Given the description of an element on the screen output the (x, y) to click on. 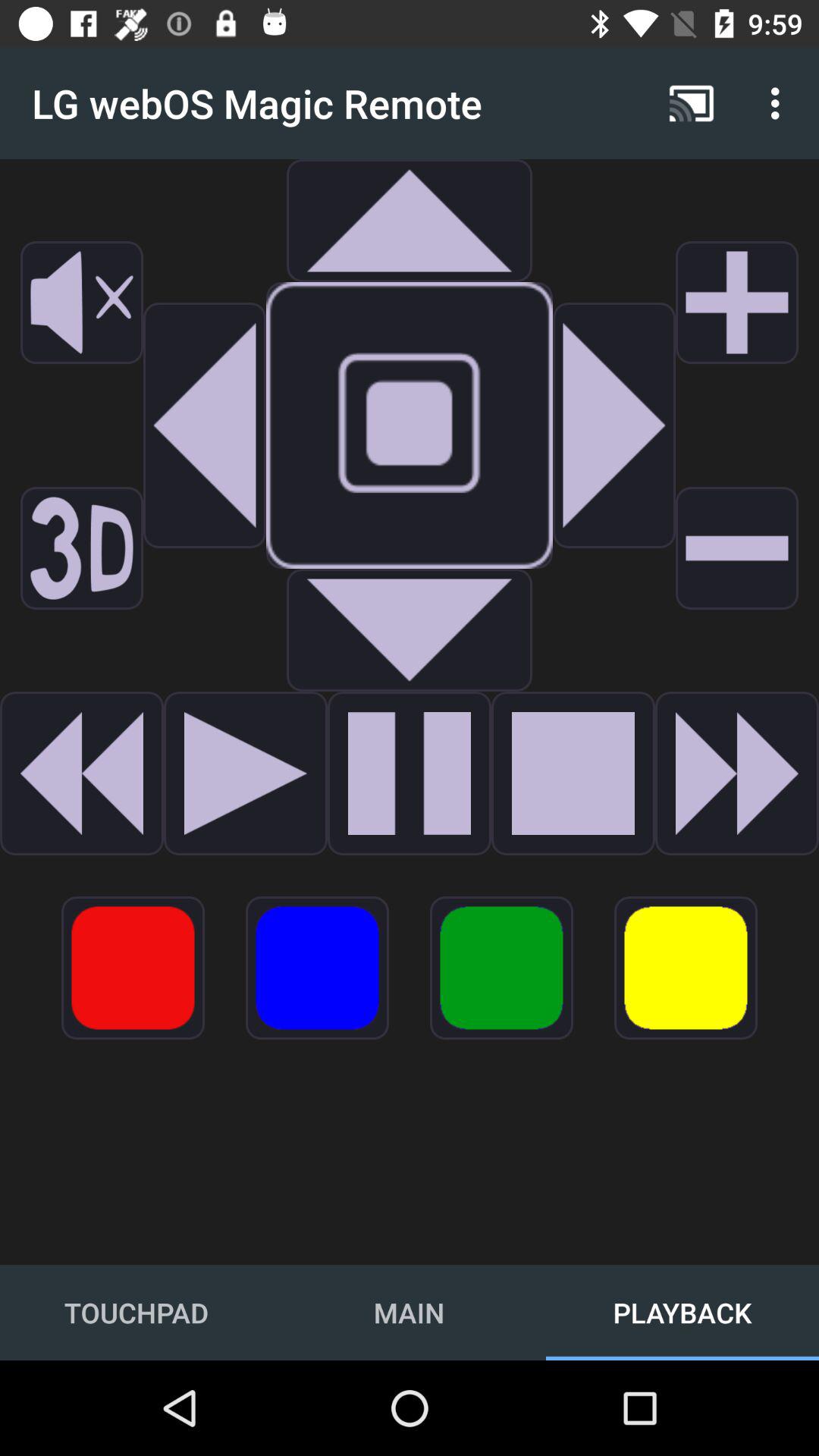
go to play (573, 773)
